Given the description of an element on the screen output the (x, y) to click on. 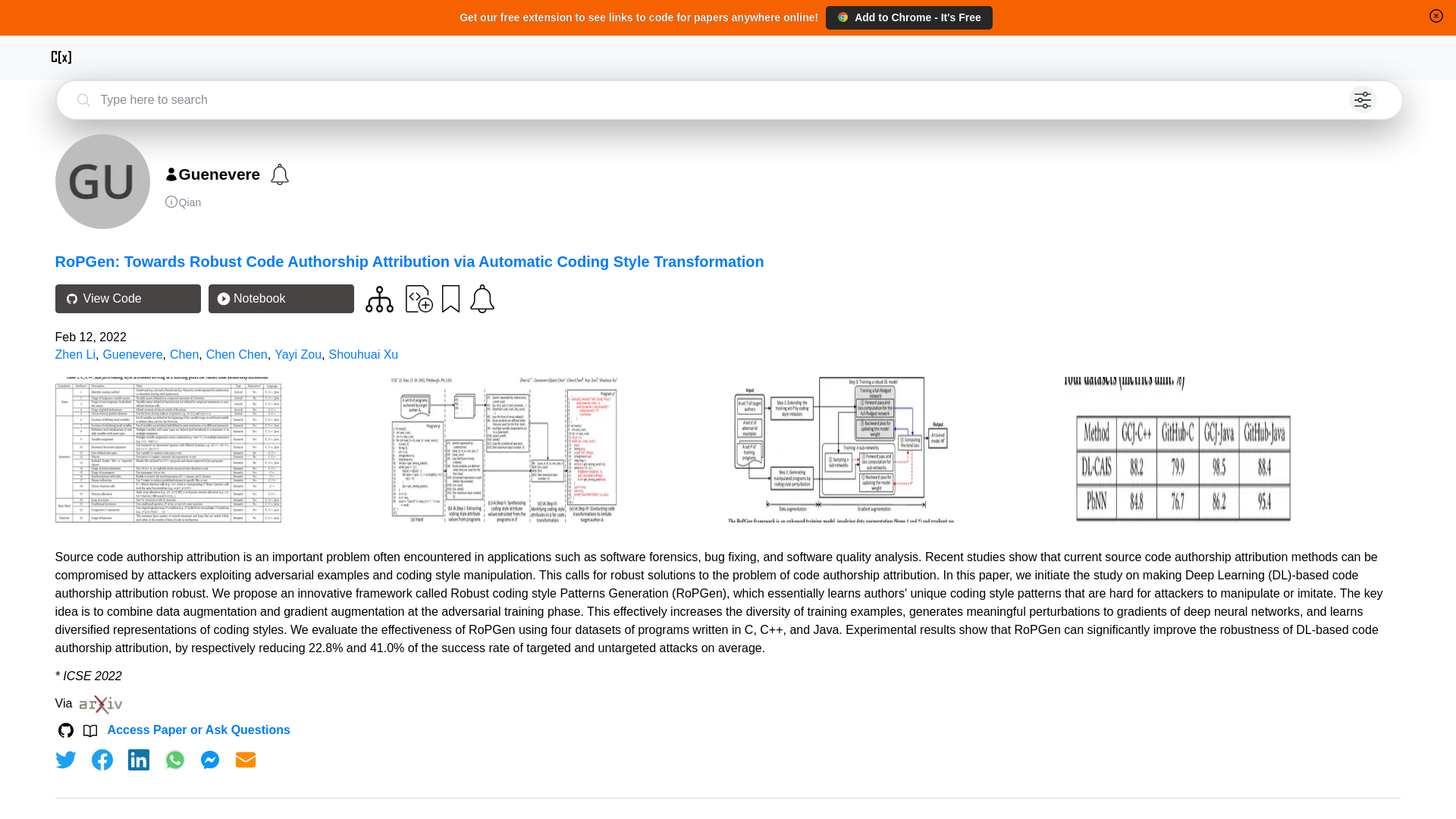
View Code (127, 298)
Bookmark this paper (449, 297)
Yayi Zou (298, 354)
Guenevere (131, 354)
Add to Chrome - It's Free (908, 17)
View code for similar papers (379, 298)
Shouhuai Xu (363, 354)
Notebook (280, 298)
Contribute your code for this paper to the community (419, 298)
Send via Messenger (209, 759)
Chen Chen (236, 354)
Zhen Li (75, 354)
Chen (184, 354)
Share via Email (245, 759)
